Given the description of an element on the screen output the (x, y) to click on. 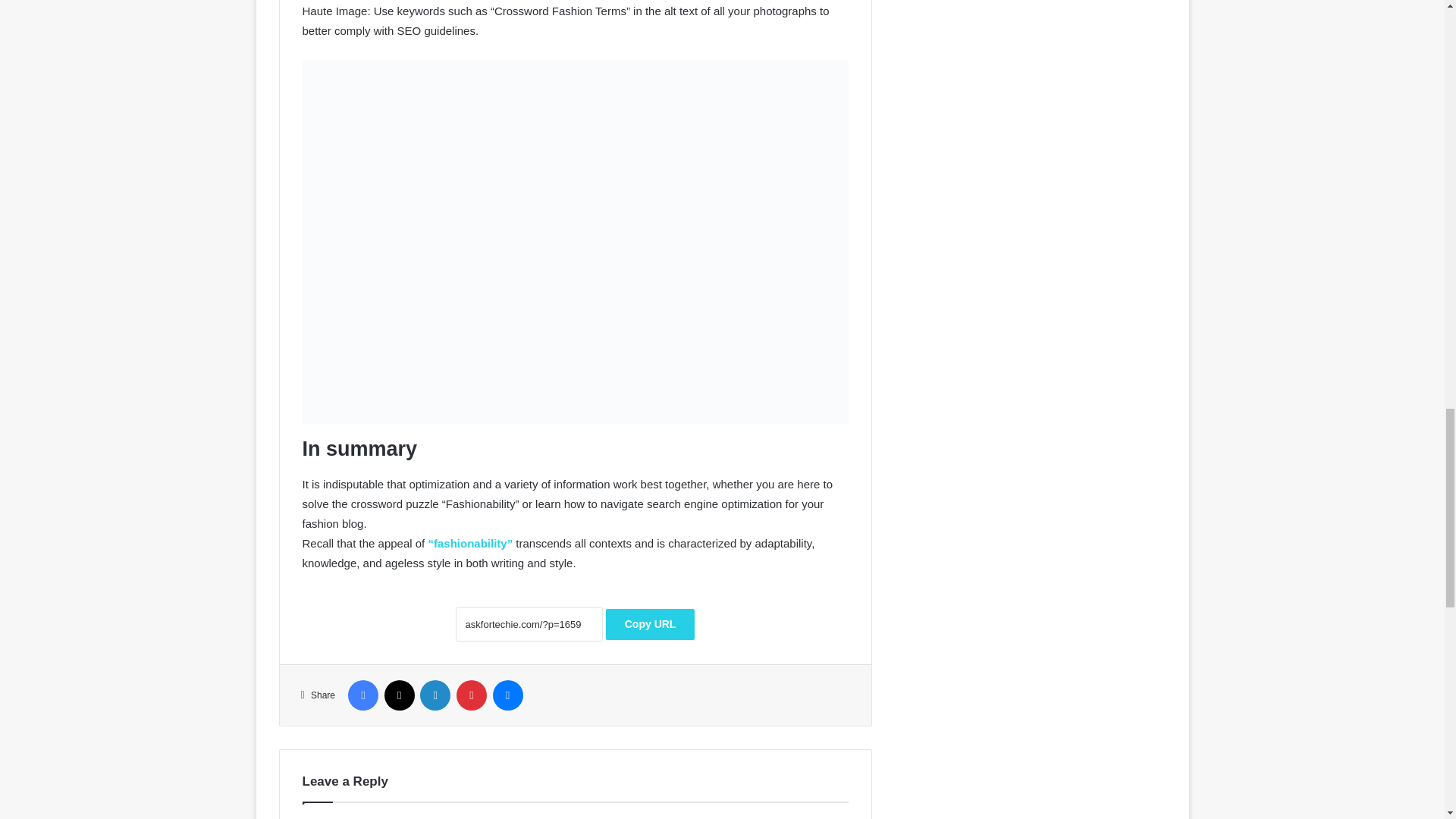
Facebook (362, 694)
X (399, 694)
Facebook (362, 694)
Copy URL (650, 624)
Messenger (507, 694)
X (399, 694)
LinkedIn (434, 694)
LinkedIn (434, 694)
Pinterest (471, 694)
Pinterest (471, 694)
Messenger (507, 694)
